Given the description of an element on the screen output the (x, y) to click on. 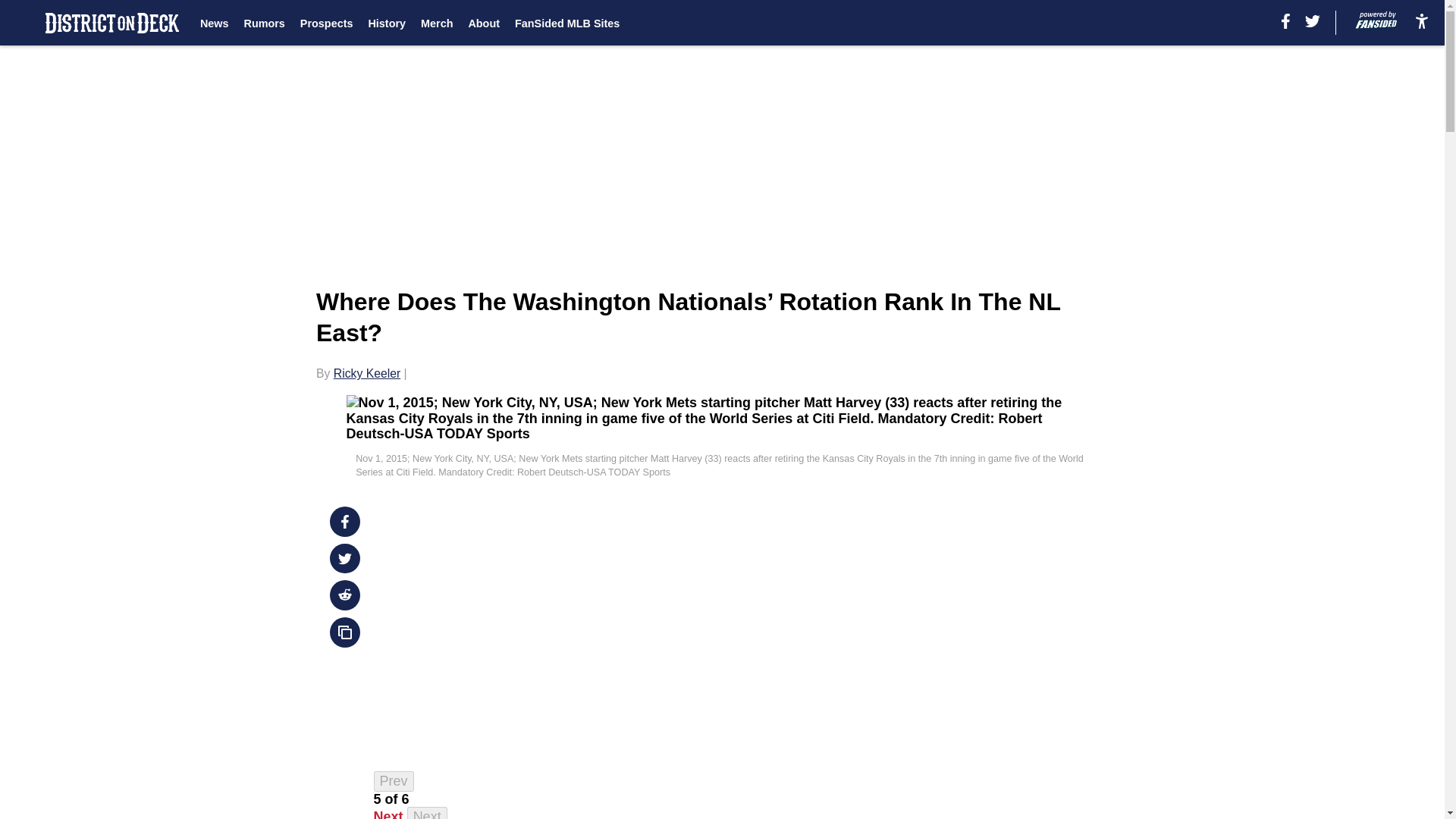
Rumors (263, 23)
Next (426, 812)
Prospects (326, 23)
Prev (393, 781)
Next (388, 814)
About (483, 23)
Merch (436, 23)
News (214, 23)
Ricky Keeler (366, 373)
History (387, 23)
